Given the description of an element on the screen output the (x, y) to click on. 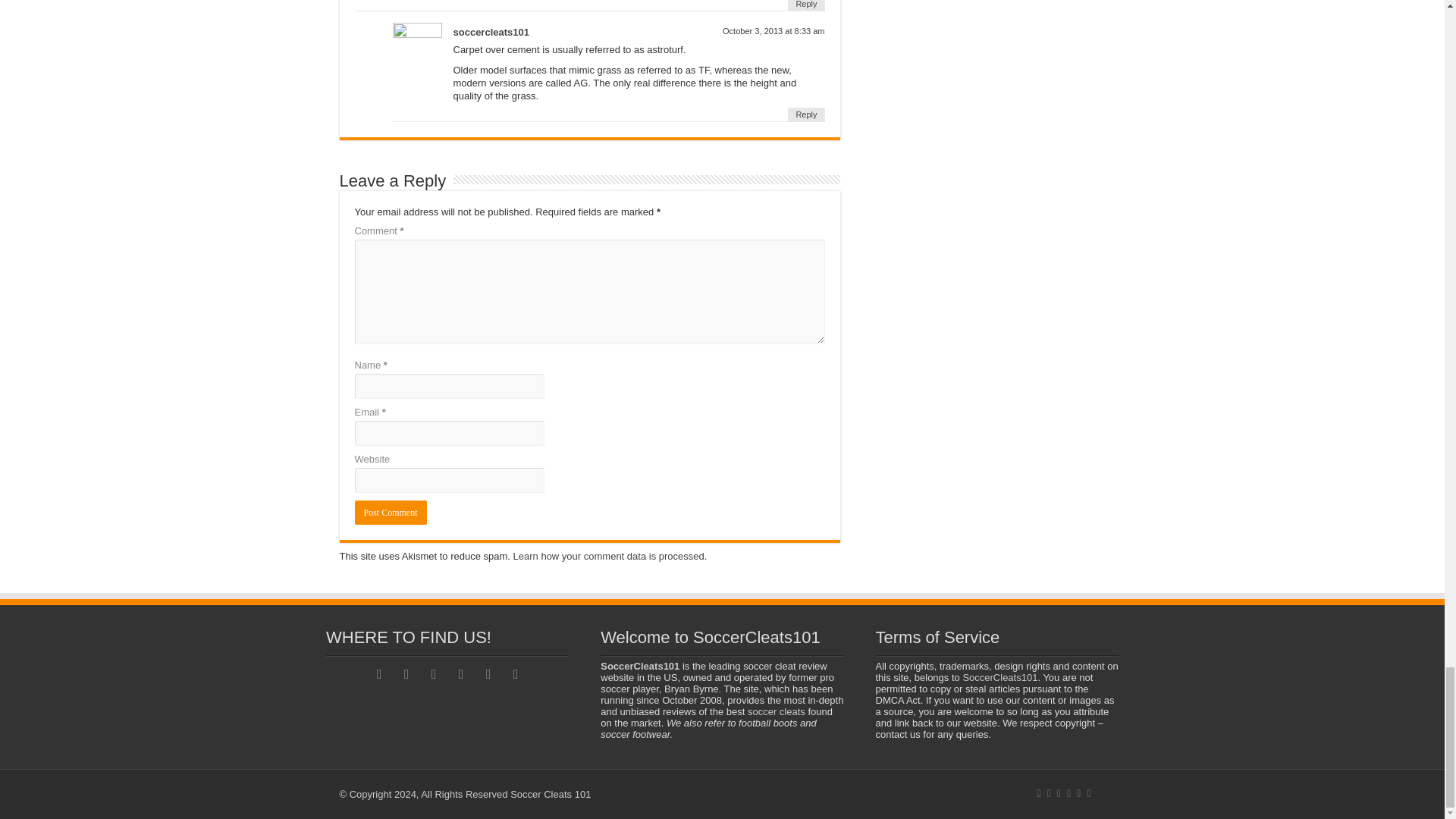
Post Comment (390, 512)
